Given the description of an element on the screen output the (x, y) to click on. 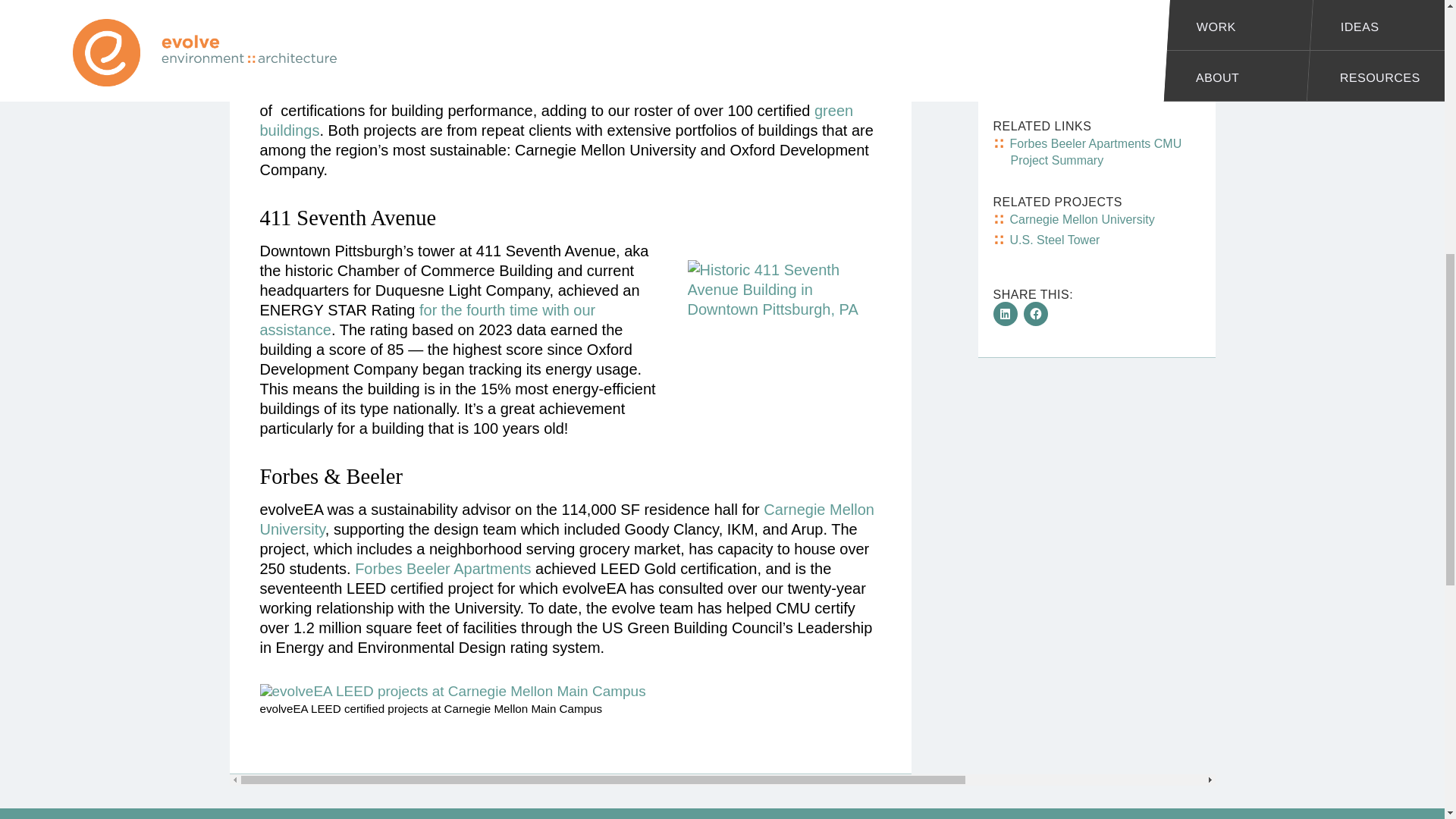
Click to share on Facebook (1035, 313)
Click to share on LinkedIn (1004, 313)
